Given the description of an element on the screen output the (x, y) to click on. 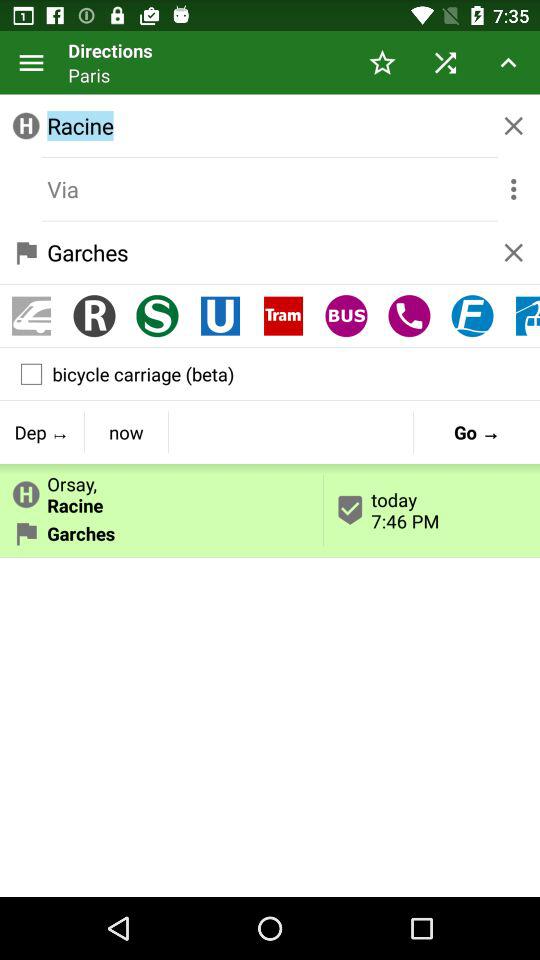
choose button to the left of today 7 46 button (161, 490)
